Given the description of an element on the screen output the (x, y) to click on. 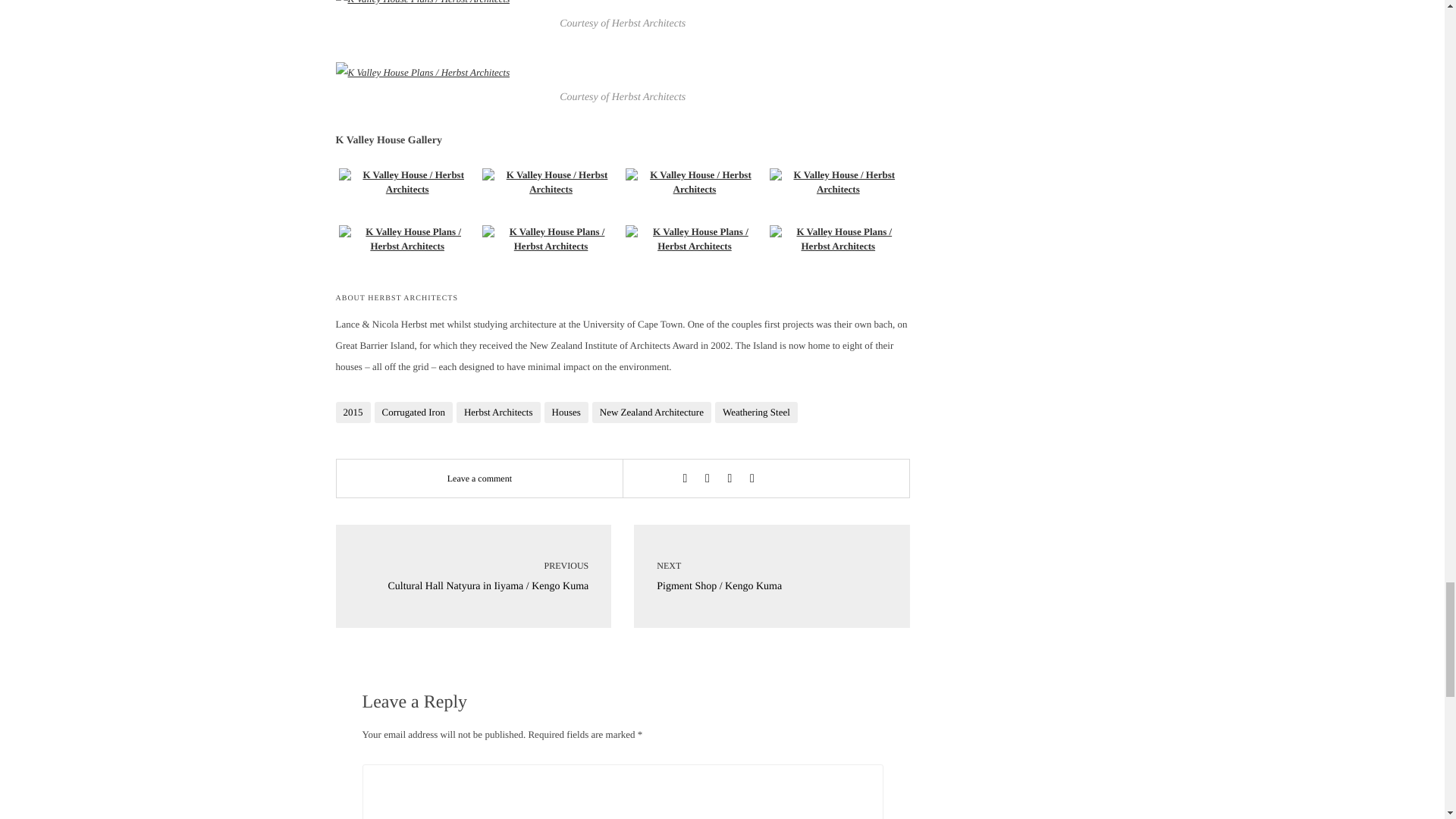
Pin this (751, 478)
Share with Google Plus (729, 478)
Tweet this (707, 478)
Share this (684, 478)
